Given the description of an element on the screen output the (x, y) to click on. 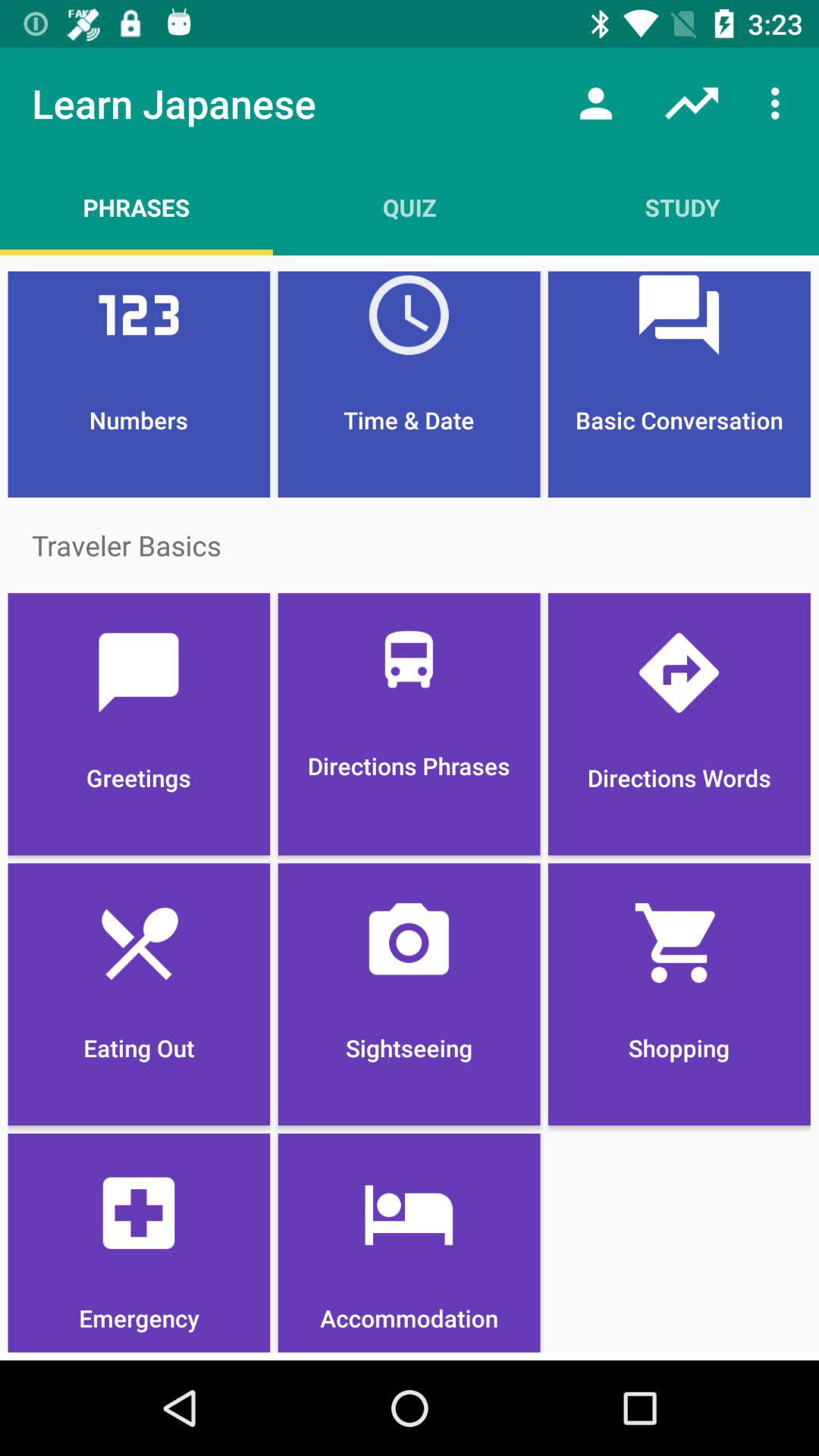
tap app next to phrases icon (409, 207)
